Given the description of an element on the screen output the (x, y) to click on. 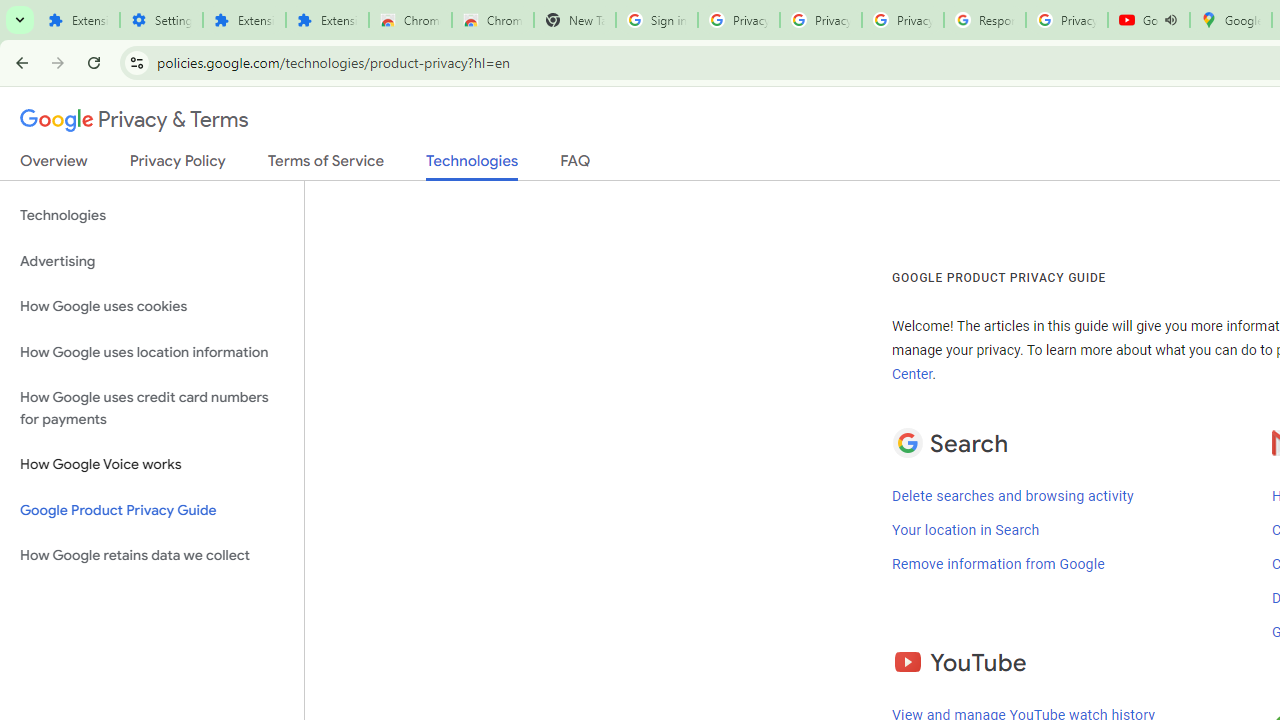
Extensions (326, 20)
How Google retains data we collect (152, 555)
How Google uses cookies (152, 306)
